Given the description of an element on the screen output the (x, y) to click on. 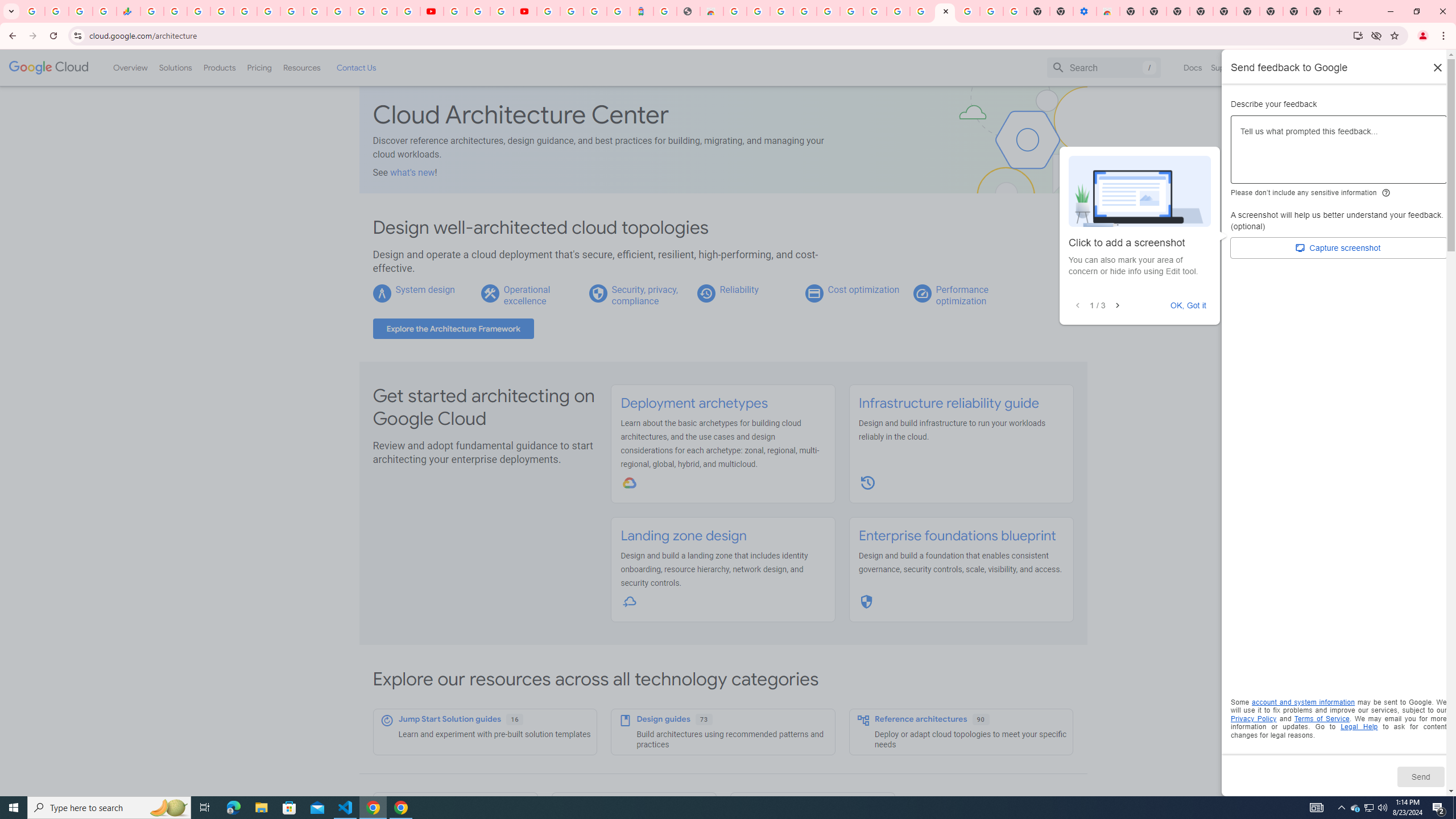
YouTube (314, 11)
what's new (412, 172)
YouTube (431, 11)
account and system information (1303, 702)
Google Account Help (478, 11)
Docs (1192, 67)
Privacy Checkup (408, 11)
Support (1225, 67)
Sign in - Google Accounts (827, 11)
Sign in - Google Accounts (968, 11)
Start free (1405, 67)
